Given the description of an element on the screen output the (x, y) to click on. 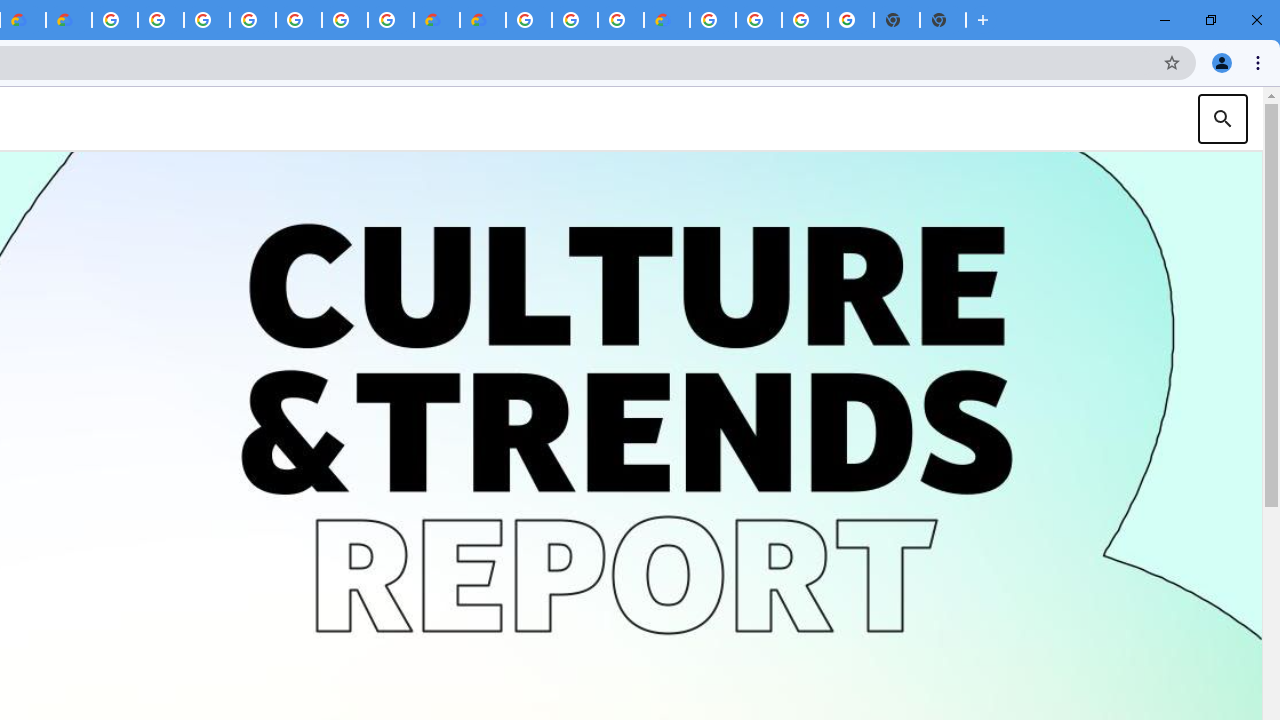
Google Cloud Service Health (666, 20)
Sign in - Google Accounts (207, 20)
Google Cloud Platform (759, 20)
Google Cloud Platform (115, 20)
Google Cloud Estimate Summary (482, 20)
